Given the description of an element on the screen output the (x, y) to click on. 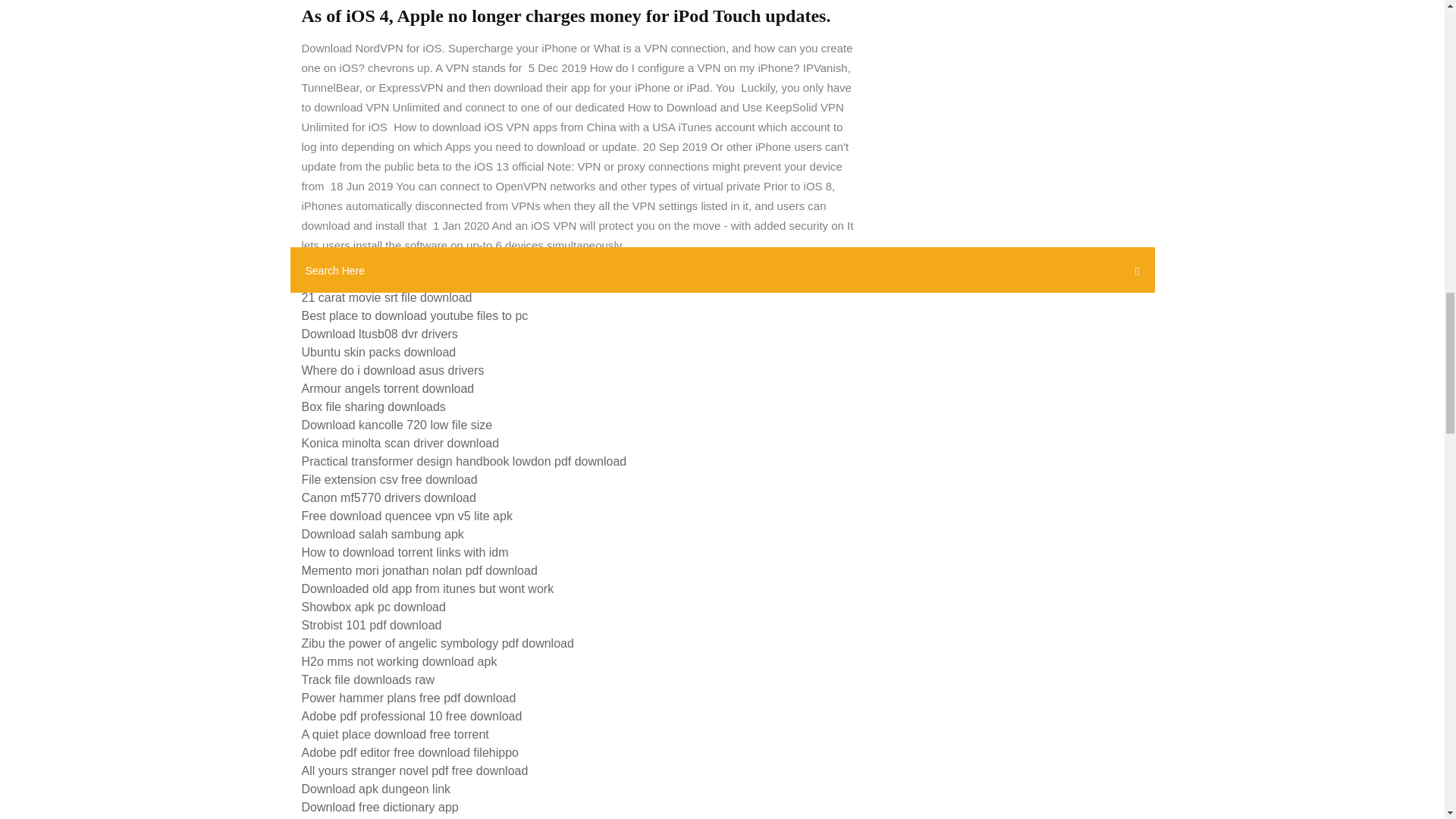
Track file downloads raw (367, 679)
Box file sharing downloads (373, 406)
Konica minolta scan driver download (400, 442)
Strobist 101 pdf download (371, 625)
Where do i download asus drivers (392, 369)
Ubuntu skin packs download (379, 351)
21 carat movie srt file download (386, 297)
Showbox apk pc download (373, 606)
How to download torrent links with idm (404, 552)
Memento mori jonathan nolan pdf download (419, 570)
Canon mf5770 drivers download (388, 497)
Downloaded old app from itunes but wont work (427, 588)
Download ltusb08 dvr drivers (379, 333)
Armour angels torrent download (387, 388)
Download kancolle 720 low file size (397, 424)
